Given the description of an element on the screen output the (x, y) to click on. 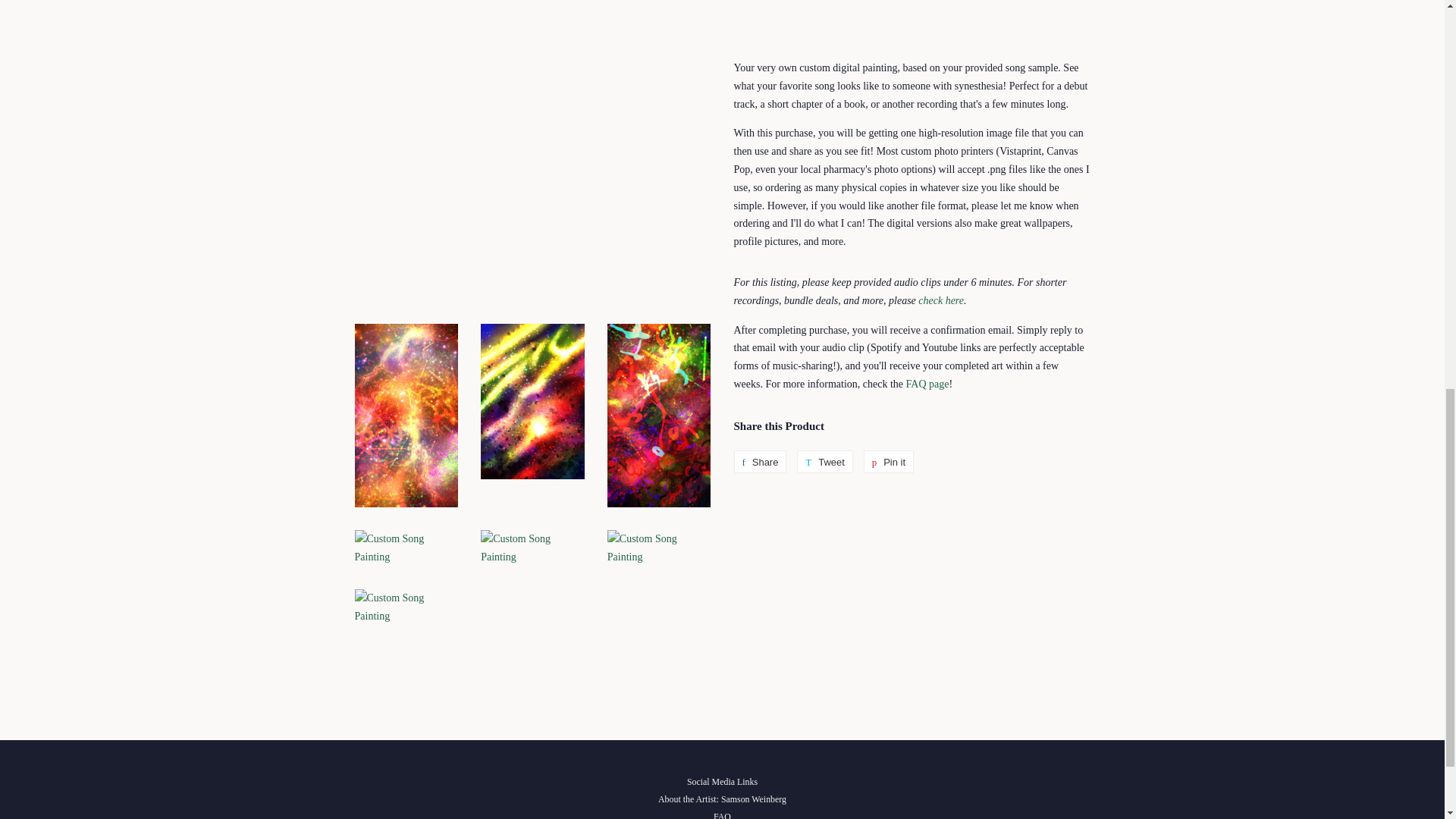
Custom Synesthesia Paintings (940, 300)
Share on Facebook (760, 461)
Pin on Pinterest (888, 461)
Synesthesia Art FAQ (927, 383)
Tweet on Twitter (824, 461)
